Given the description of an element on the screen output the (x, y) to click on. 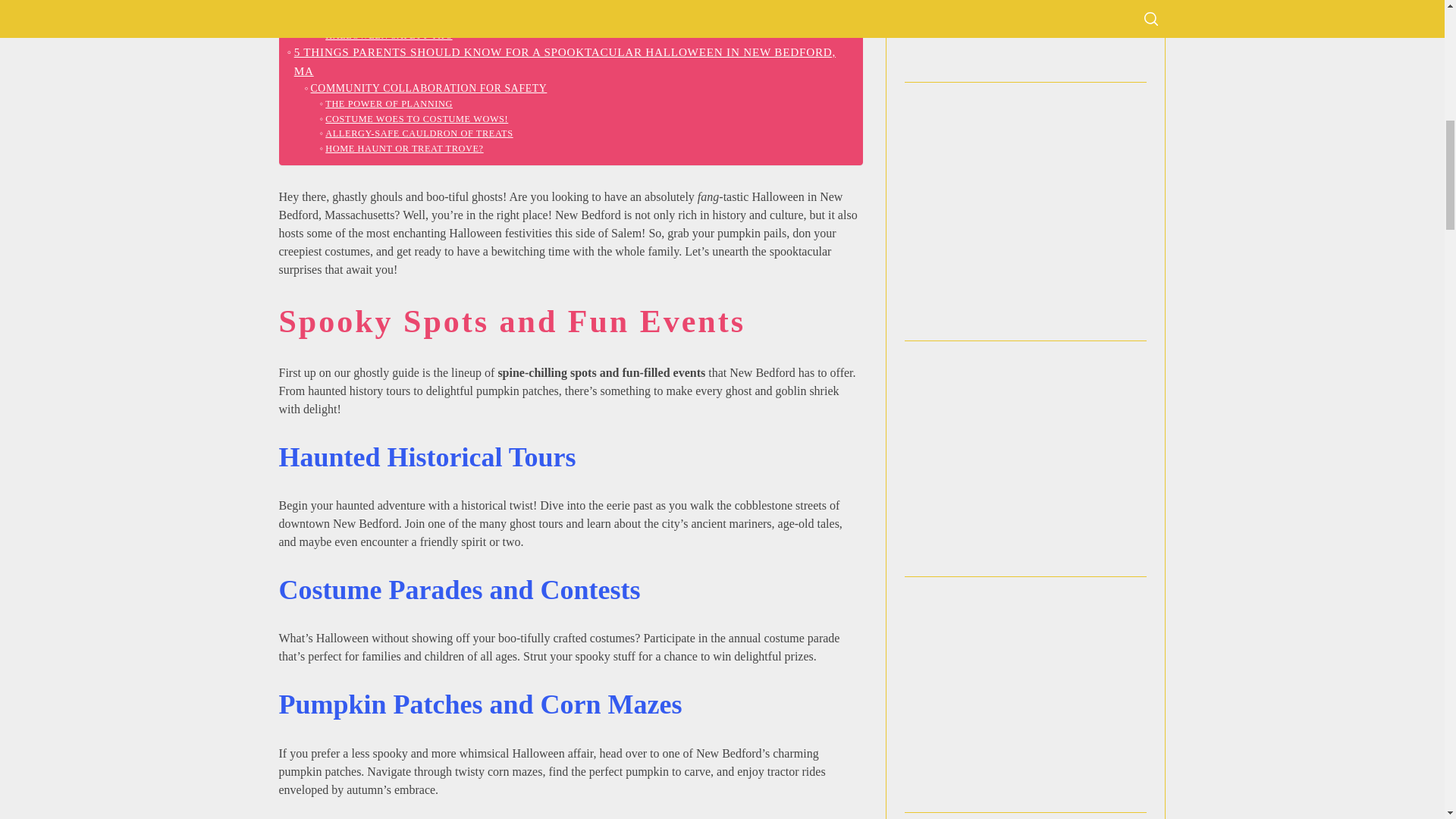
ALLERGY-SAFE CAULDRON OF TREATS (416, 133)
COMMUNITY COLLABORATION FOR SAFETY (425, 88)
Neighborhood Trick-or-Treating (414, 6)
HOME HAUNT OR TREAT TROVE? (401, 149)
Halloween Safety Tips (386, 36)
MALL AND COMMUNITY CENTER EVENTS (422, 20)
Community Collaboration for Safety (425, 88)
HALLOWEEN SAFETY TIPS (386, 36)
Allergy-Safe Cauldron of Treats (416, 133)
